Given the description of an element on the screen output the (x, y) to click on. 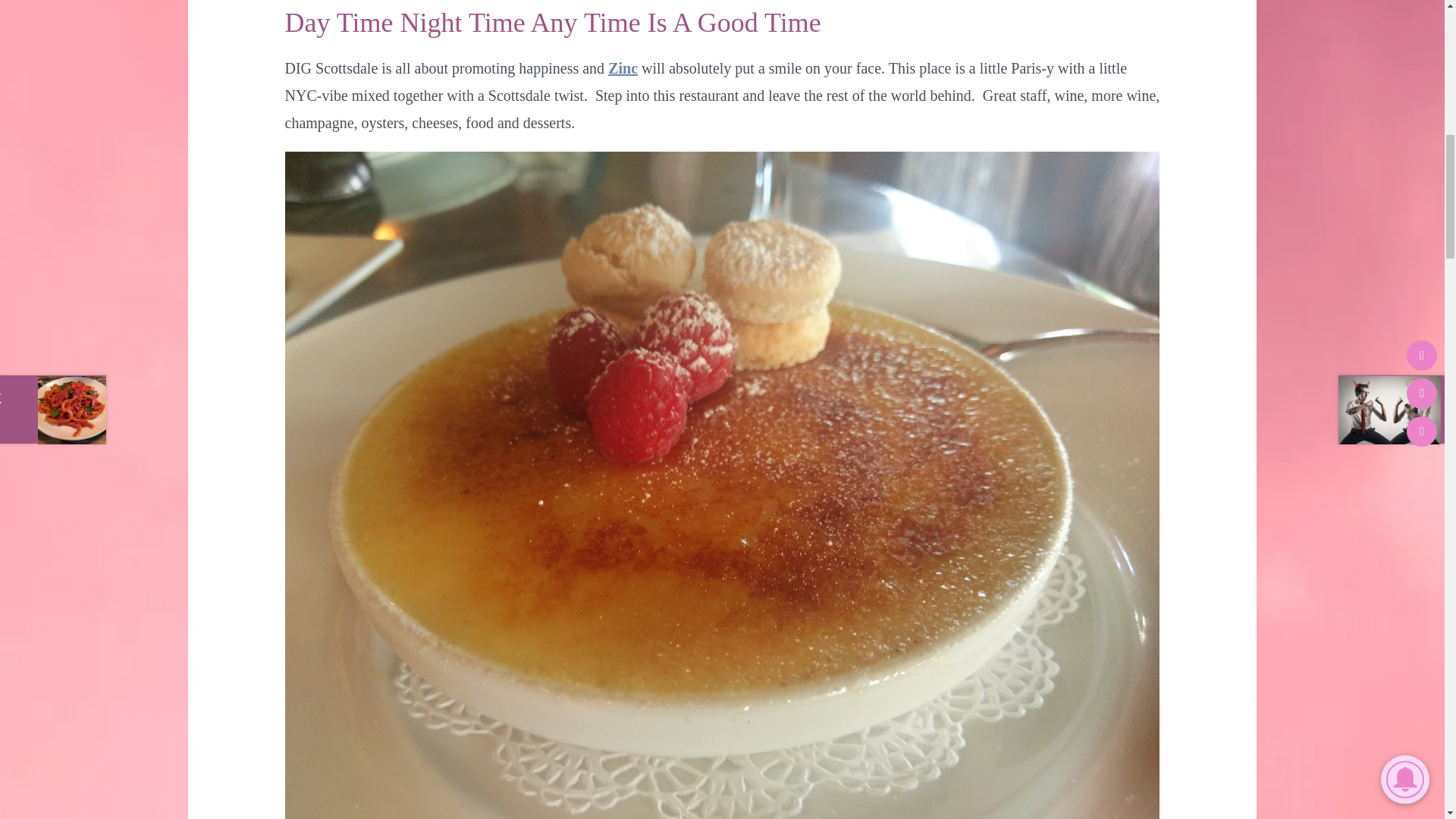
Zinc (622, 67)
